Given the description of an element on the screen output the (x, y) to click on. 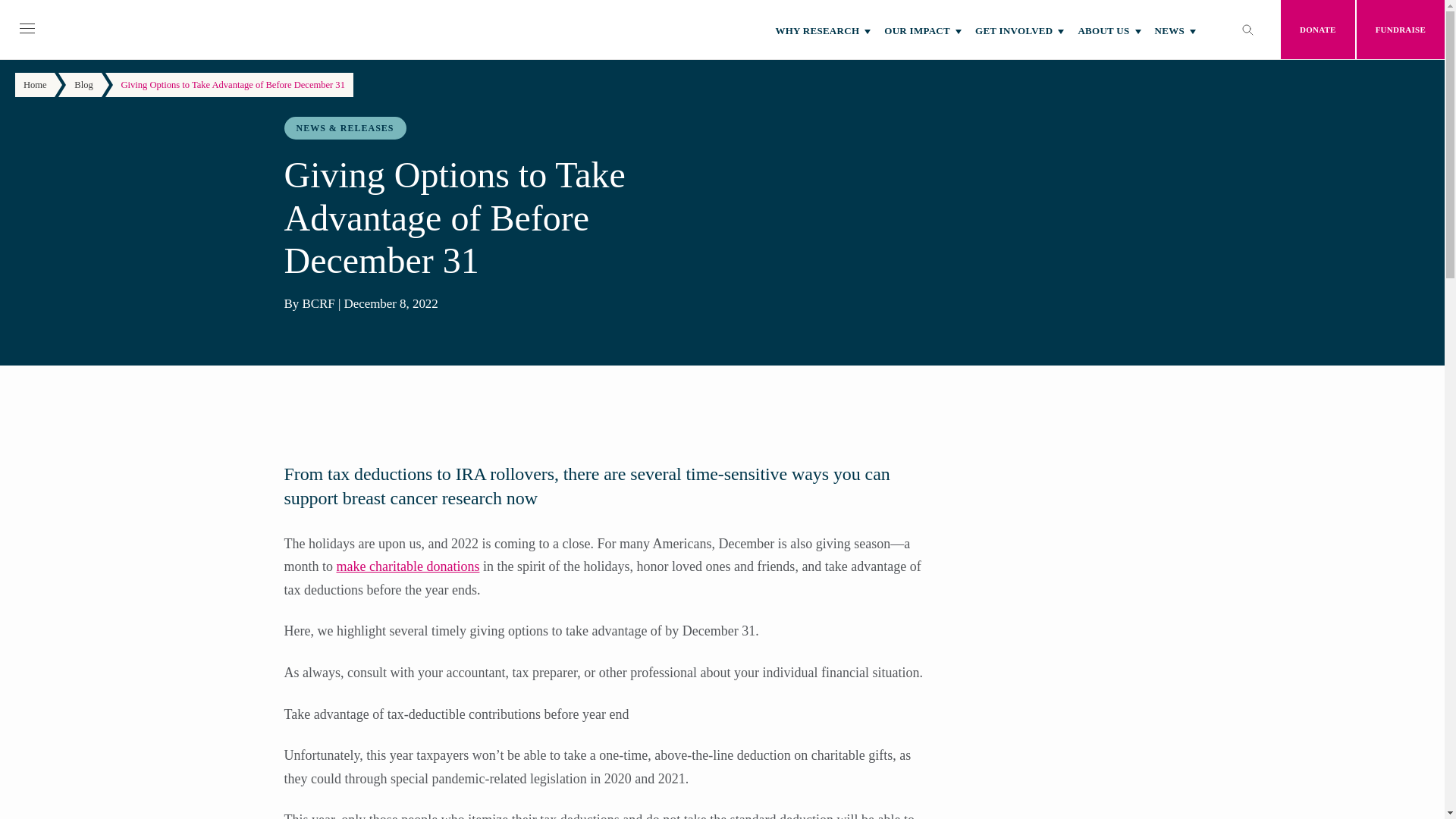
WHY RESEARCH (817, 29)
OUR IMPACT (918, 29)
Magnifying Glass (1247, 30)
GET INVOLVED (1014, 29)
ABOUT US (1104, 29)
